Given the description of an element on the screen output the (x, y) to click on. 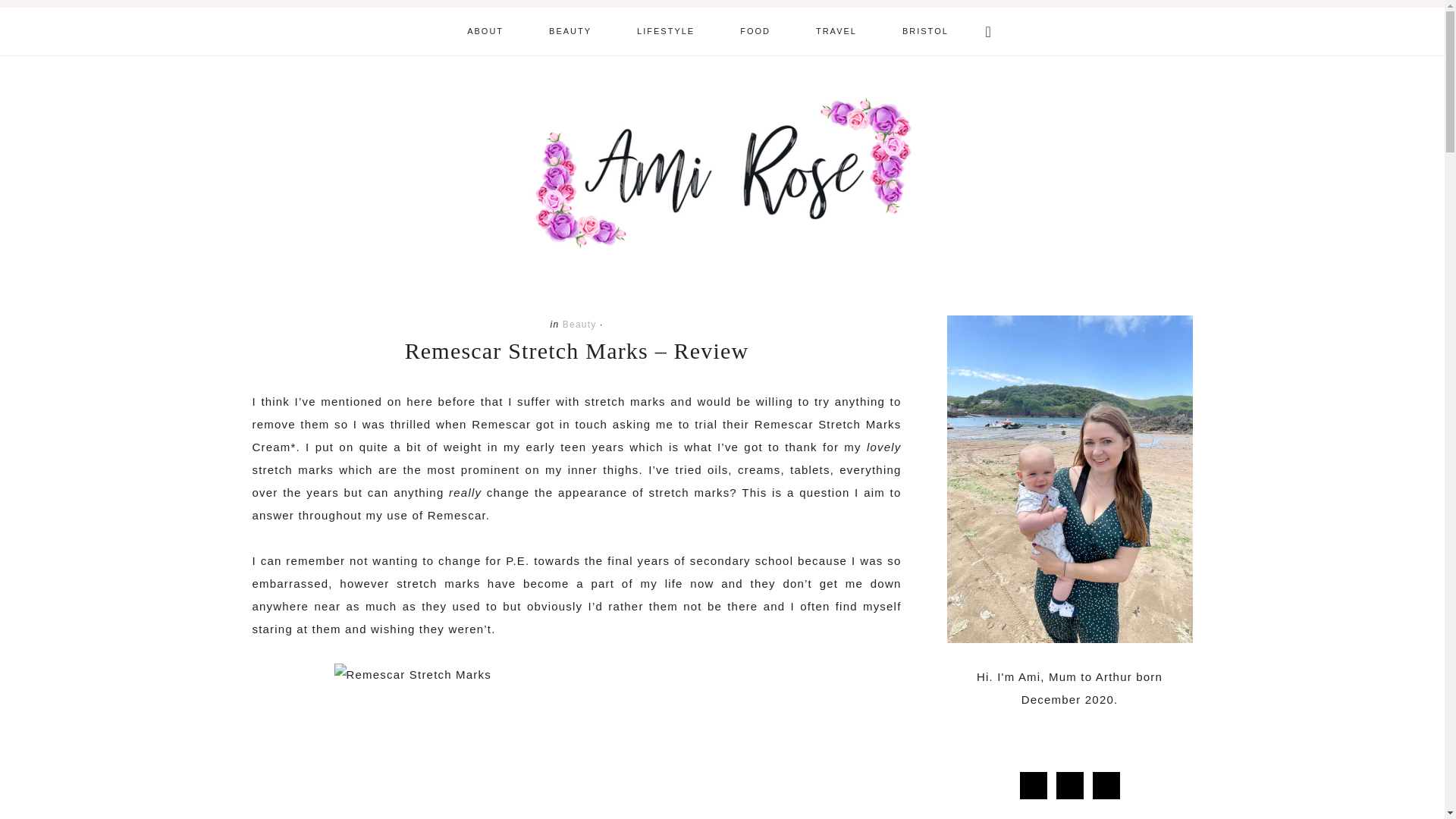
BEAUTY (569, 31)
Remescar Stretch Marks (575, 741)
FOOD (755, 31)
LIFESTYLE (665, 31)
TRAVEL (836, 31)
ABOUT (484, 31)
Beauty (579, 324)
BRISTOL (925, 31)
